Given the description of an element on the screen output the (x, y) to click on. 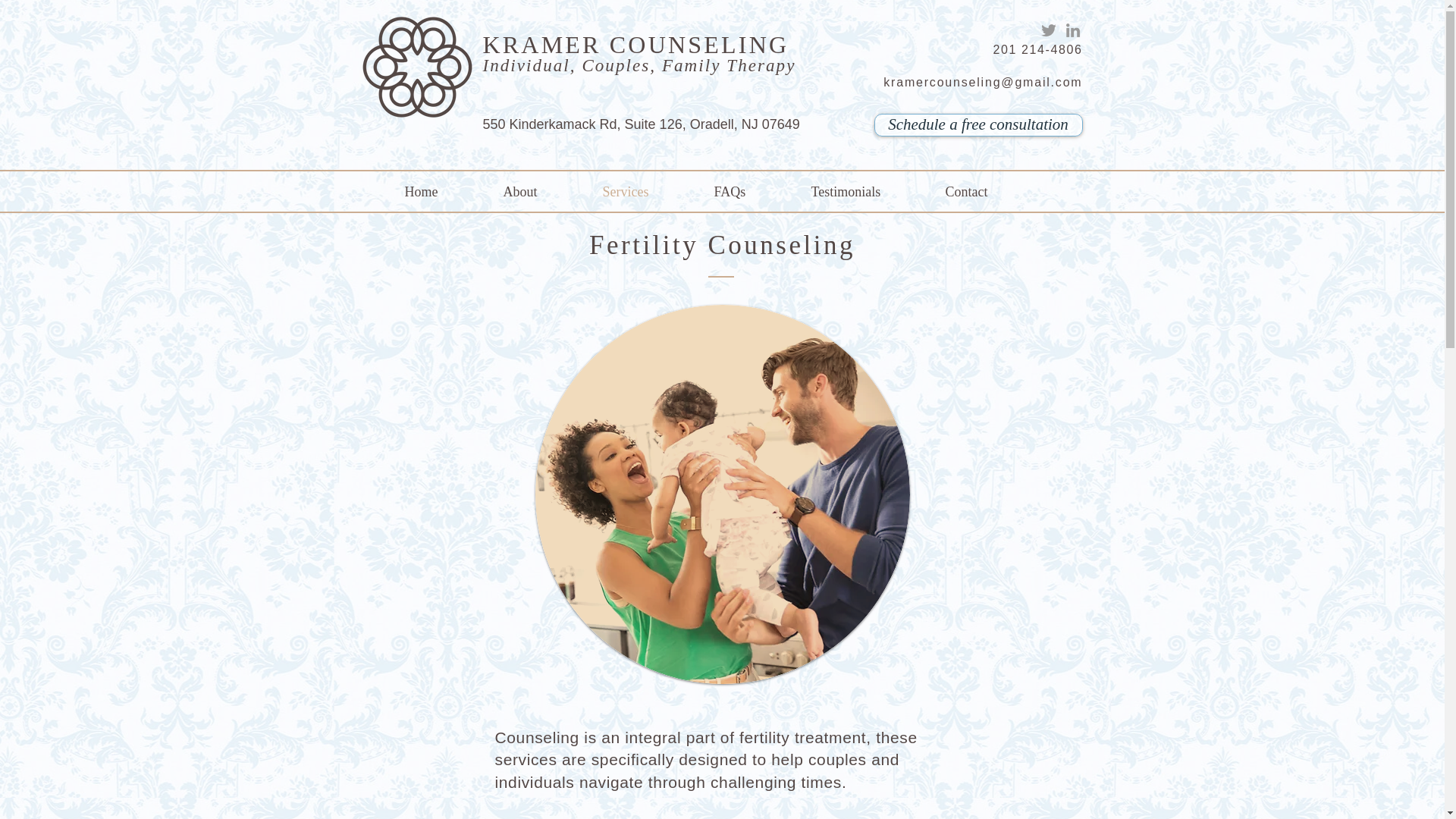
Services (650, 192)
Individual, Couples, Family Therapy (637, 65)
Home (446, 192)
201 214-4806 (1037, 49)
Testimonials (870, 192)
Contact (990, 192)
About (545, 192)
KRAMER COUNSELING (635, 44)
Schedule a free consultation (977, 124)
FAQs (754, 192)
